Given the description of an element on the screen output the (x, y) to click on. 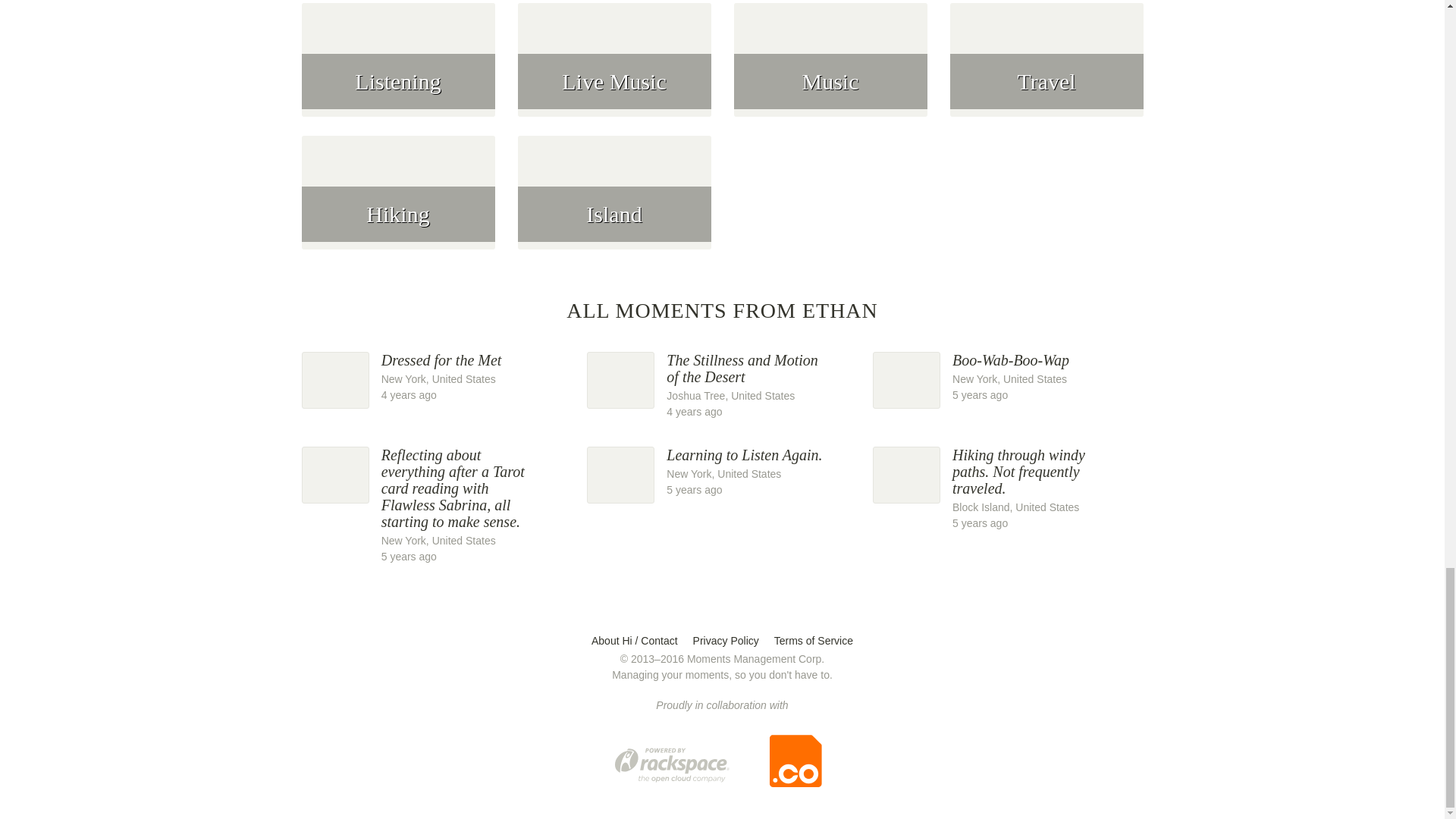
Singing (436, 377)
Travel (397, 1)
Listening (1046, 69)
Reflection (397, 69)
Hiking (1046, 1)
